Given the description of an element on the screen output the (x, y) to click on. 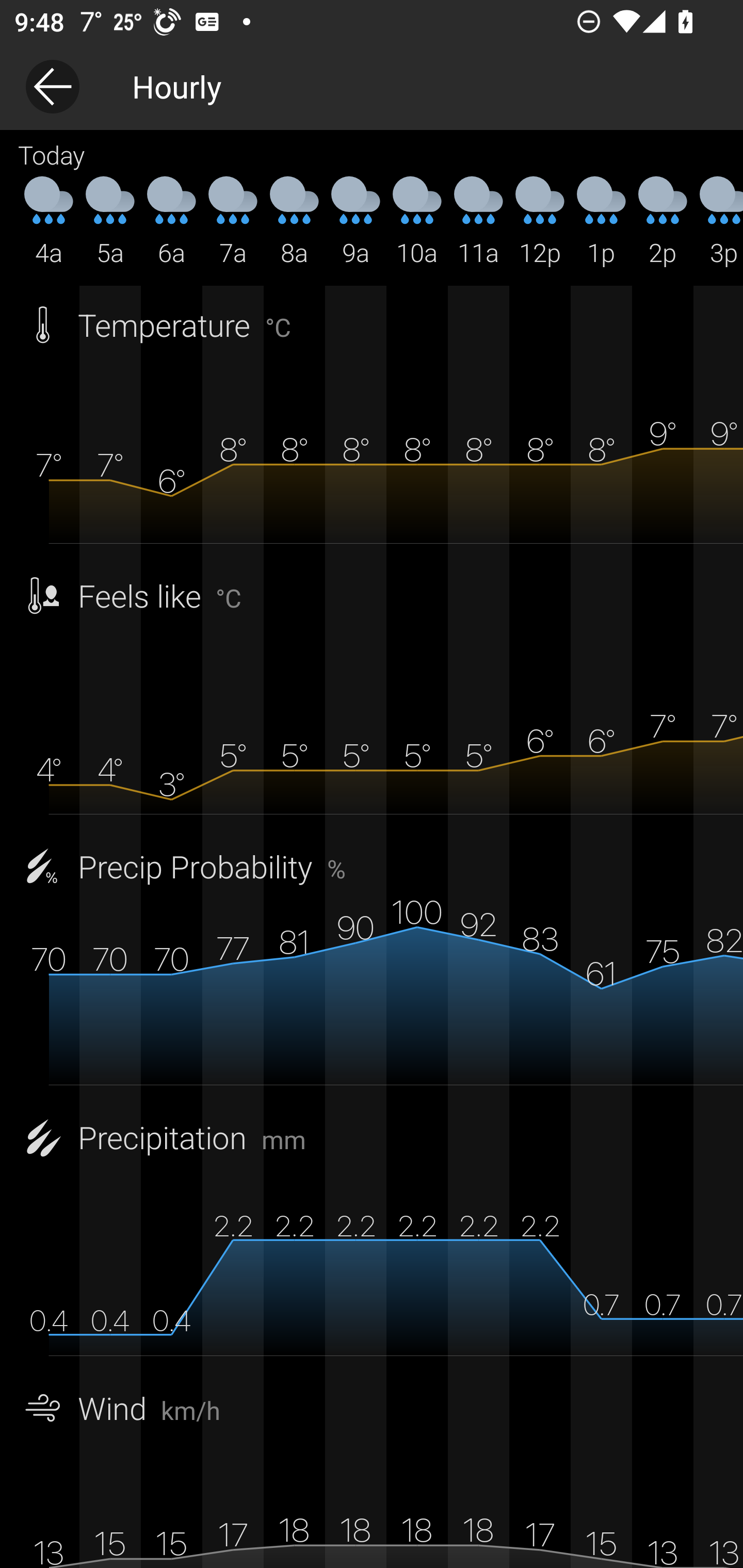
4a (48, 222)
5a (110, 222)
6a (171, 222)
7a (232, 222)
8a (294, 222)
9a (355, 222)
10a (417, 222)
11a (478, 222)
12p (539, 222)
1p (601, 222)
2p (662, 222)
3p (718, 222)
